Given the description of an element on the screen output the (x, y) to click on. 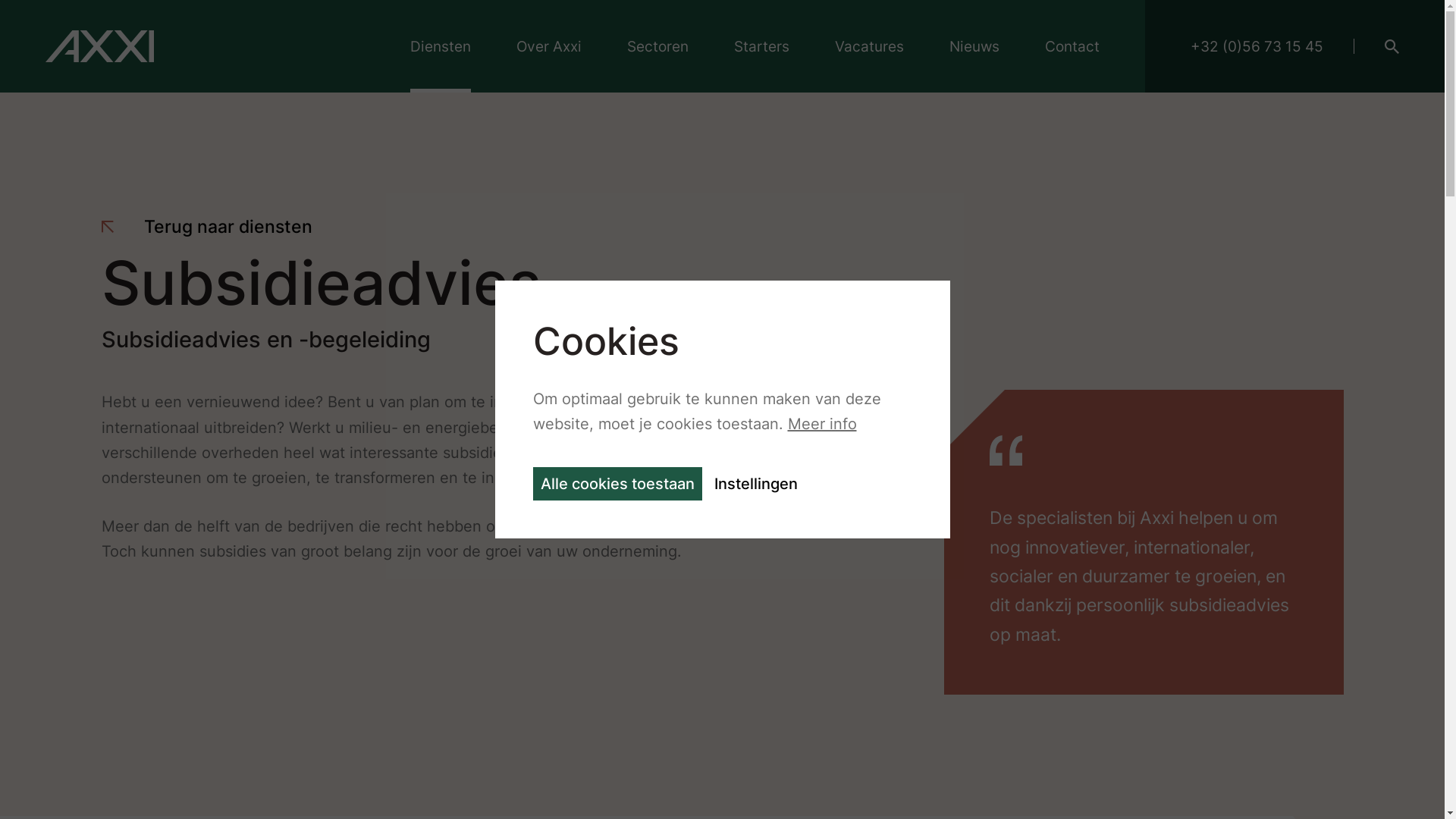
Contact Element type: text (1071, 46)
+32 (0)56 73 15 45 Element type: text (1256, 46)
Instellingen Element type: text (755, 483)
Alle cookies toestaan Element type: text (616, 483)
Over Axxi Element type: text (548, 46)
Vacatures Element type: text (868, 46)
Search Element type: text (1391, 46)
Diensten Element type: text (440, 46)
Starters Element type: text (761, 46)
Sectoren Element type: text (657, 46)
Terug naar diensten Element type: text (206, 227)
Nieuws Element type: text (974, 46)
Meer info Element type: text (821, 423)
